Given the description of an element on the screen output the (x, y) to click on. 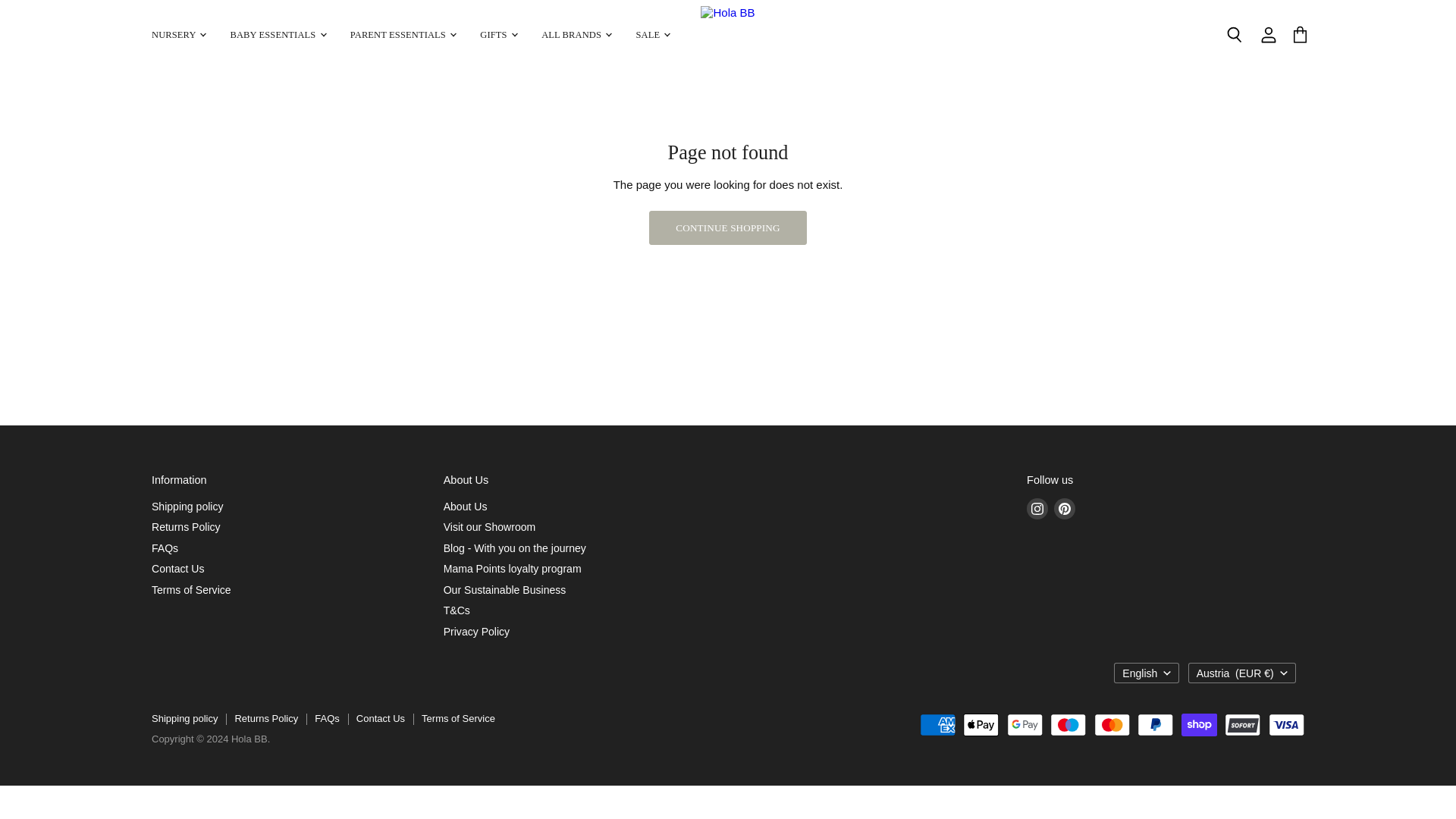
Instagram (1037, 508)
BABY ESSENTIALS (276, 34)
NURSERY (177, 34)
Pinterest (1064, 508)
